Given the description of an element on the screen output the (x, y) to click on. 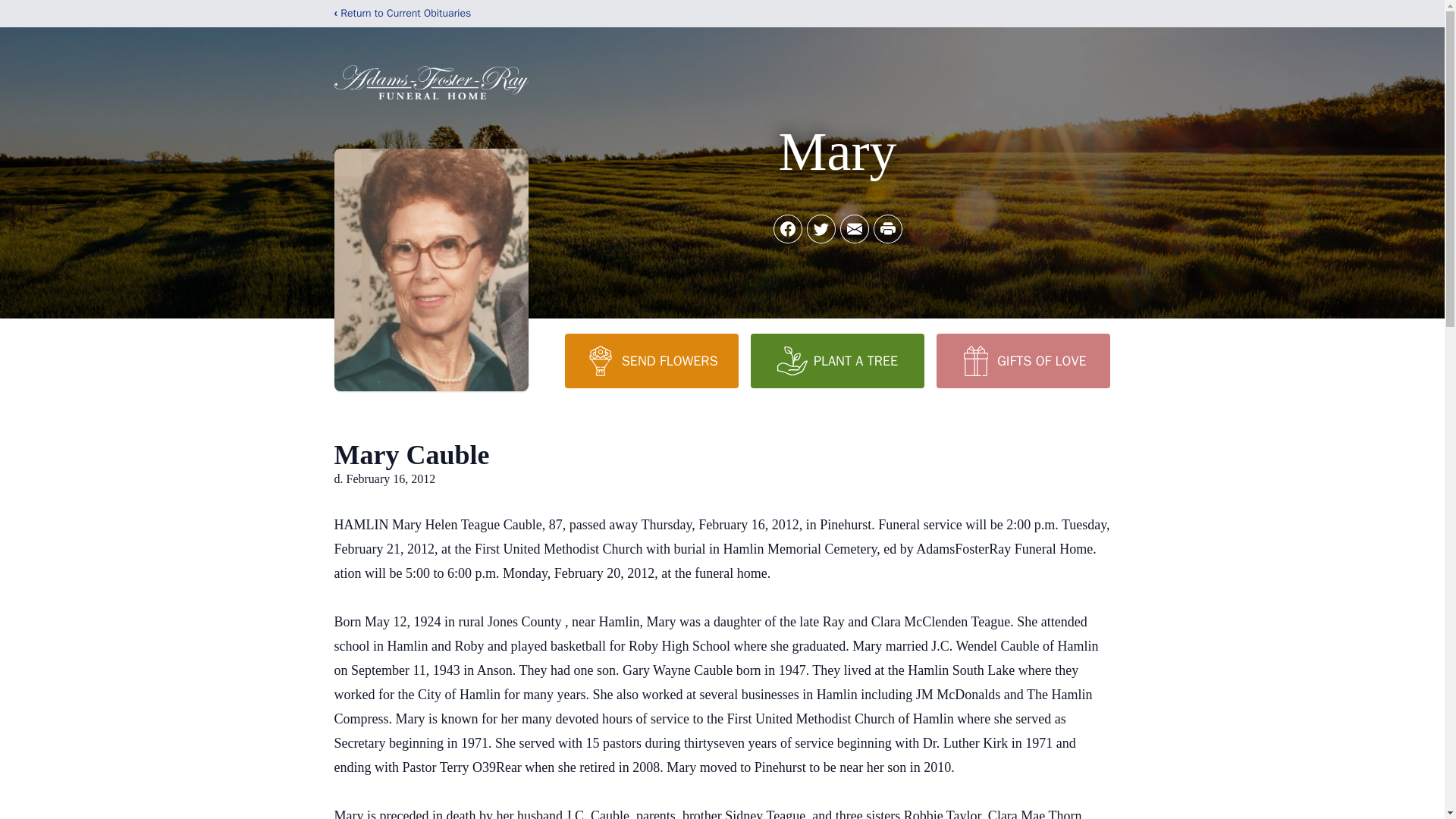
PLANT A TREE (837, 360)
GIFTS OF LOVE (1022, 360)
SEND FLOWERS (651, 360)
